Given the description of an element on the screen output the (x, y) to click on. 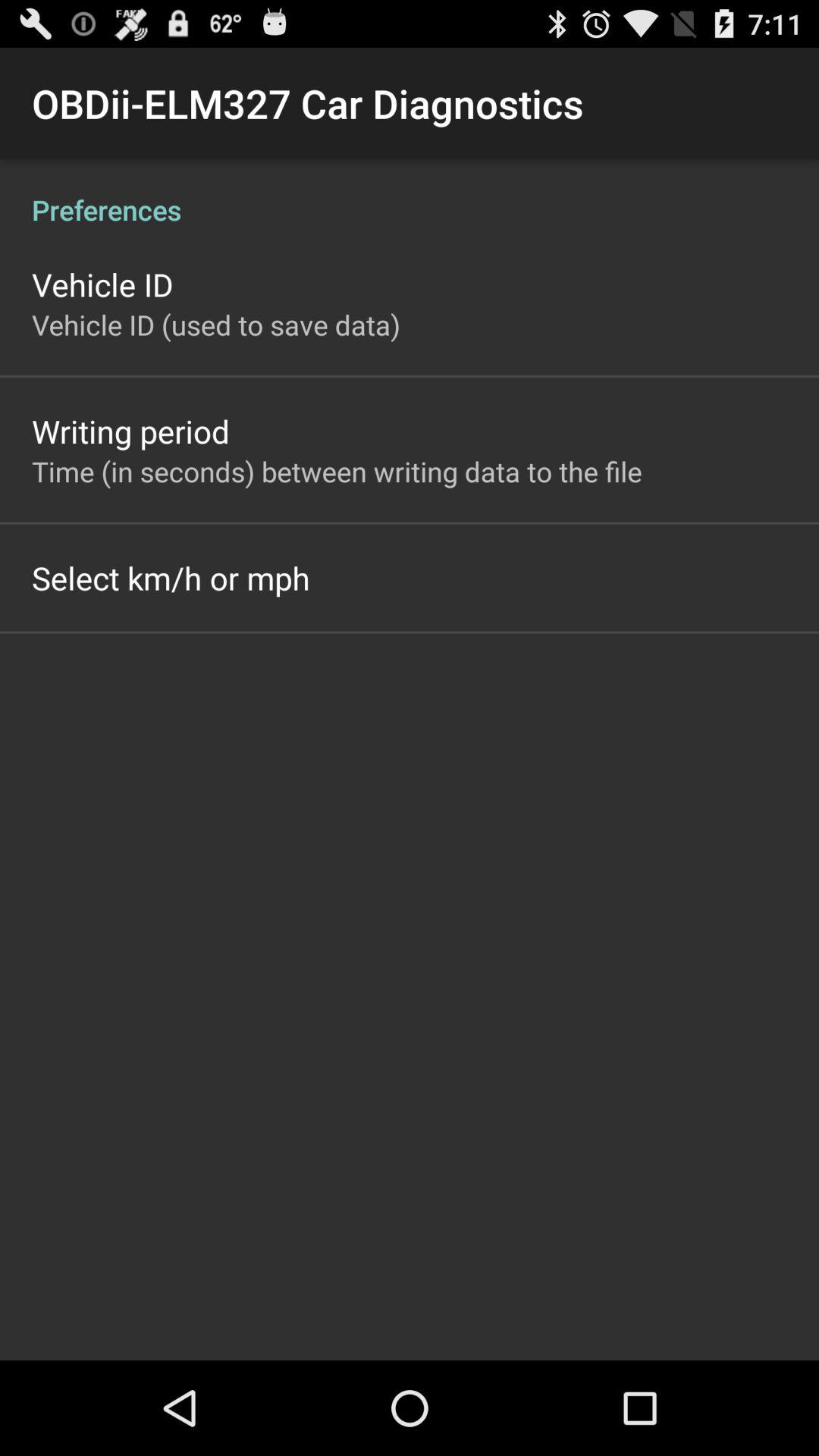
tap the app below writing period icon (336, 471)
